Given the description of an element on the screen output the (x, y) to click on. 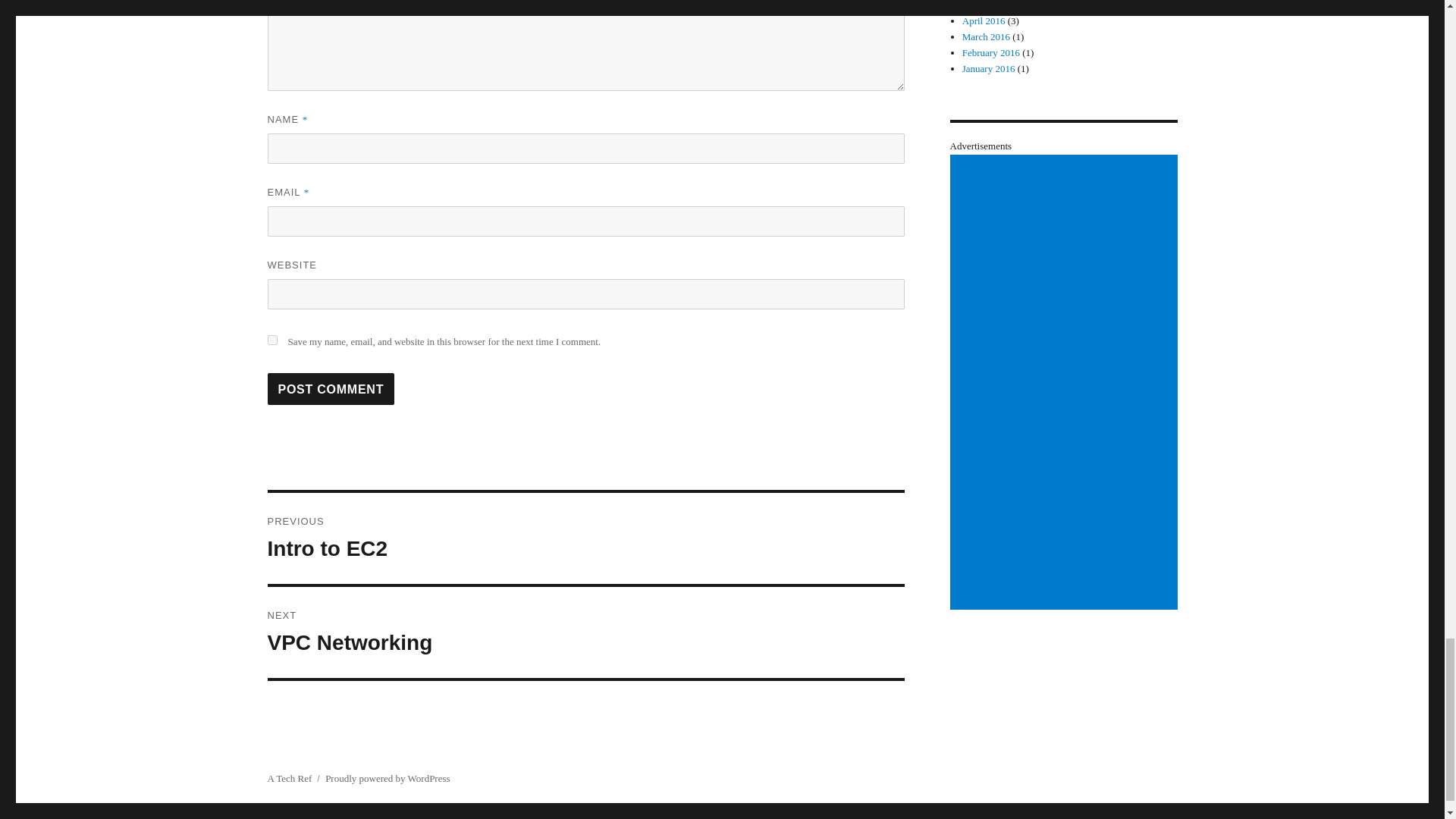
Post Comment (330, 388)
yes (585, 632)
Post Comment (585, 538)
